Given the description of an element on the screen output the (x, y) to click on. 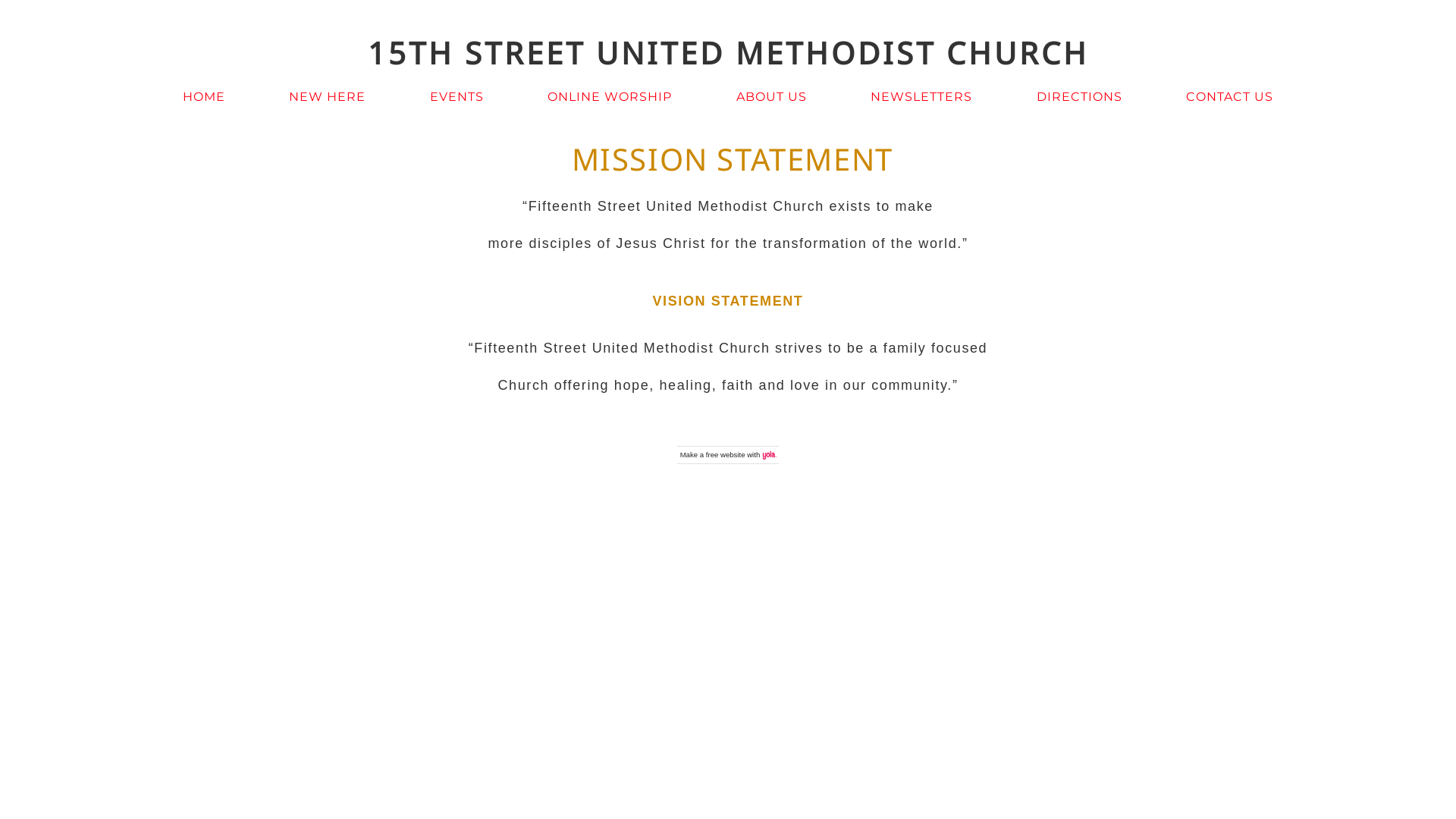
CONTACT US Element type: text (1229, 96)
HOME Element type: text (203, 96)
free website Element type: text (725, 454)
NEW HERE Element type: text (326, 96)
DIRECTIONS Element type: text (1079, 96)
EVENTS Element type: text (456, 96)
15TH STREET UNITED METHODIST CHURCH Element type: text (727, 52)
ABOUT US Element type: text (771, 96)
NEWSLETTERS Element type: text (921, 96)
ONLINE WORSHIP Element type: text (609, 96)
